Given the description of an element on the screen output the (x, y) to click on. 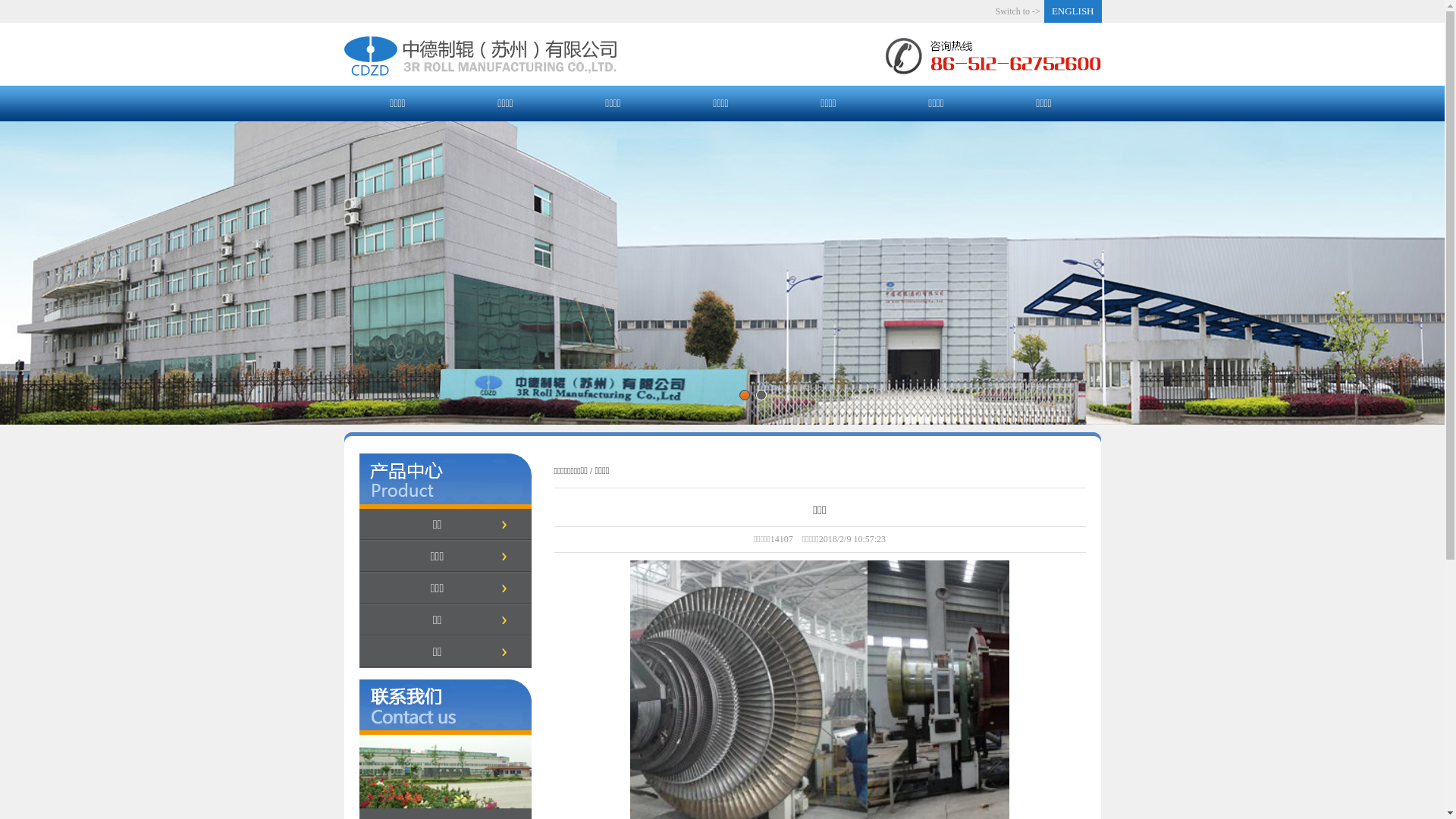
1 Element type: text (743, 394)
2 Element type: text (760, 394)
ENGLISH Element type: text (1072, 11)
